Given the description of an element on the screen output the (x, y) to click on. 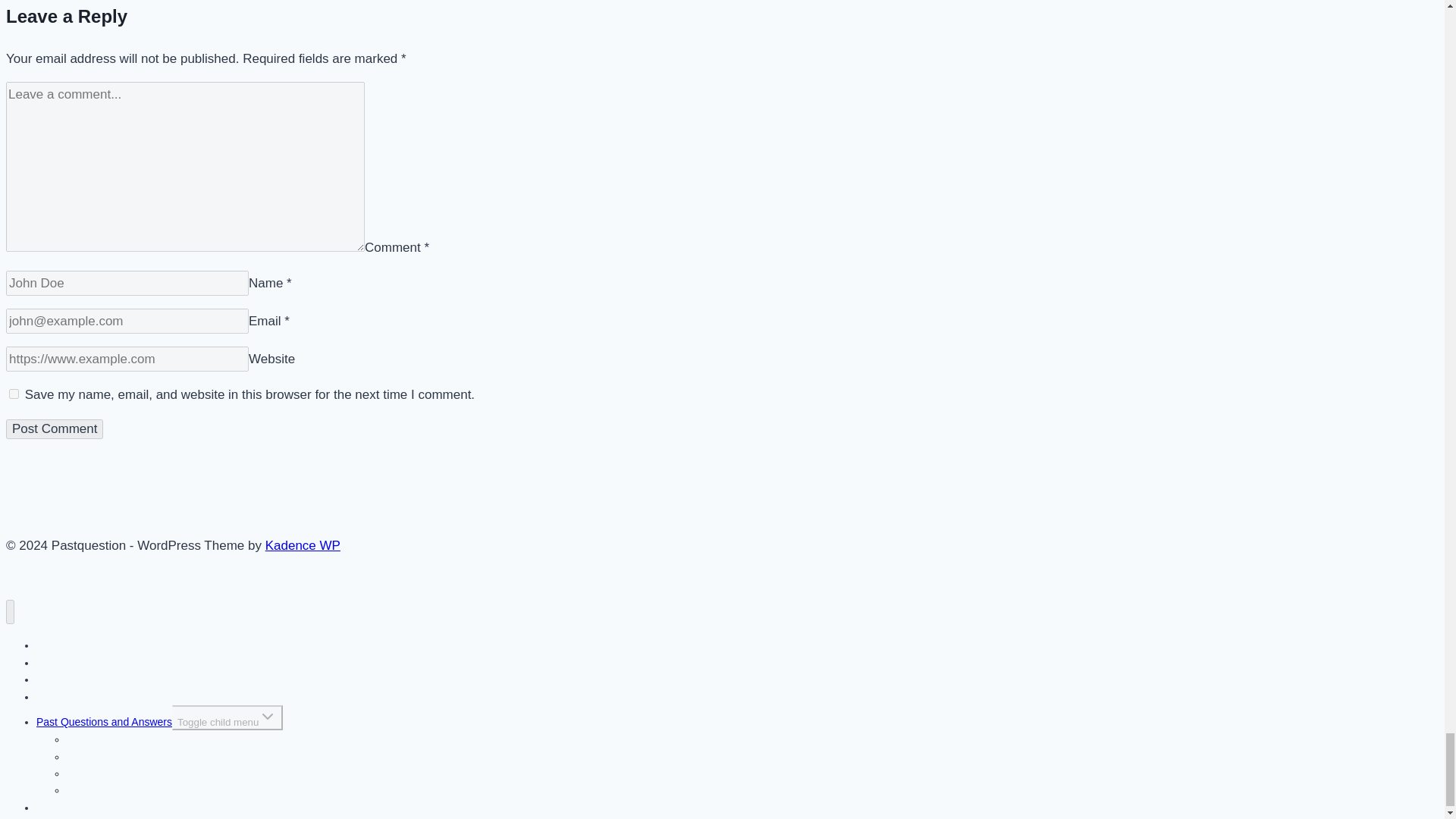
Post Comment (54, 428)
Expand (267, 716)
yes (13, 393)
